Given the description of an element on the screen output the (x, y) to click on. 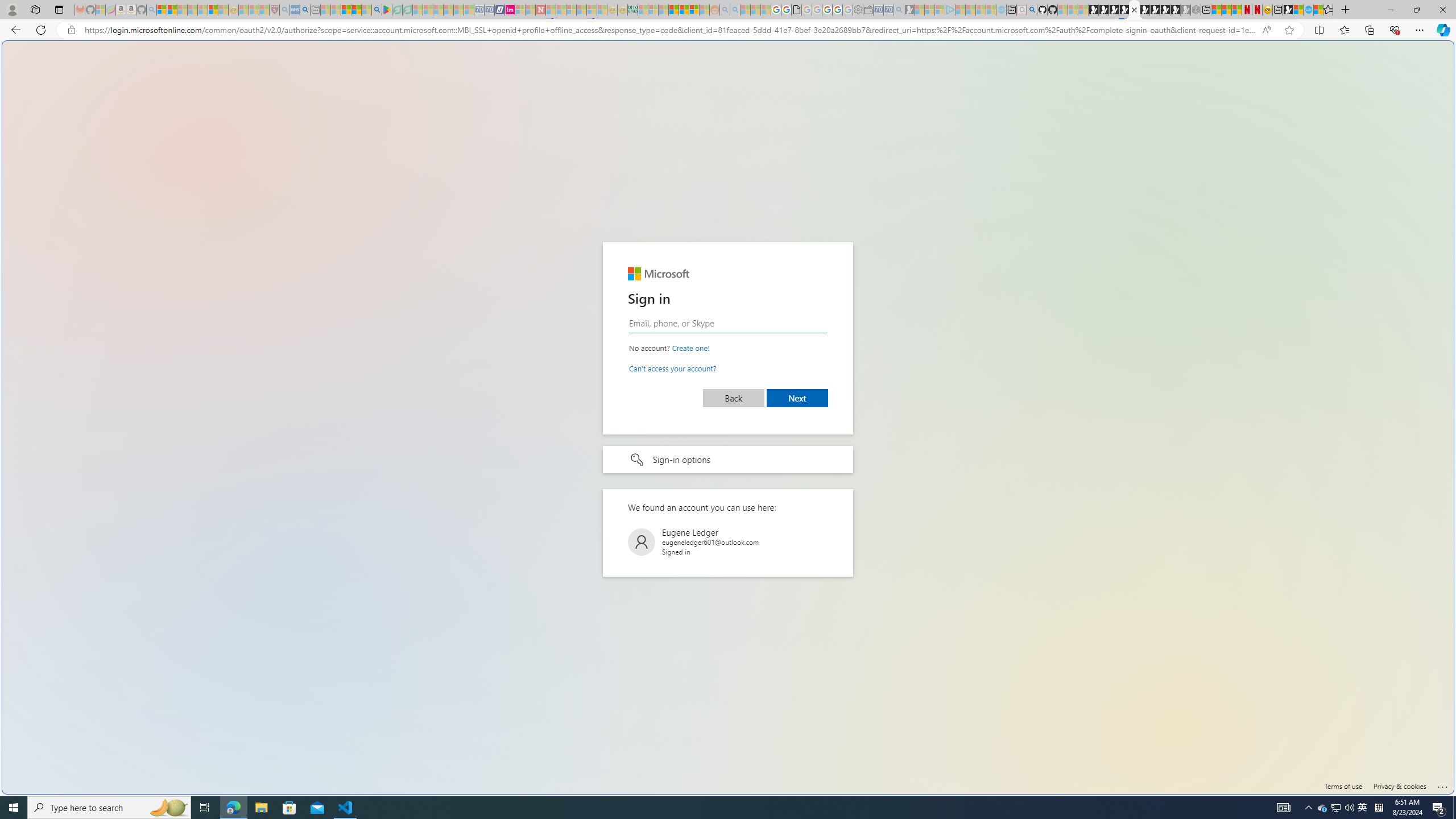
Create a Microsoft account (690, 347)
